Given the description of an element on the screen output the (x, y) to click on. 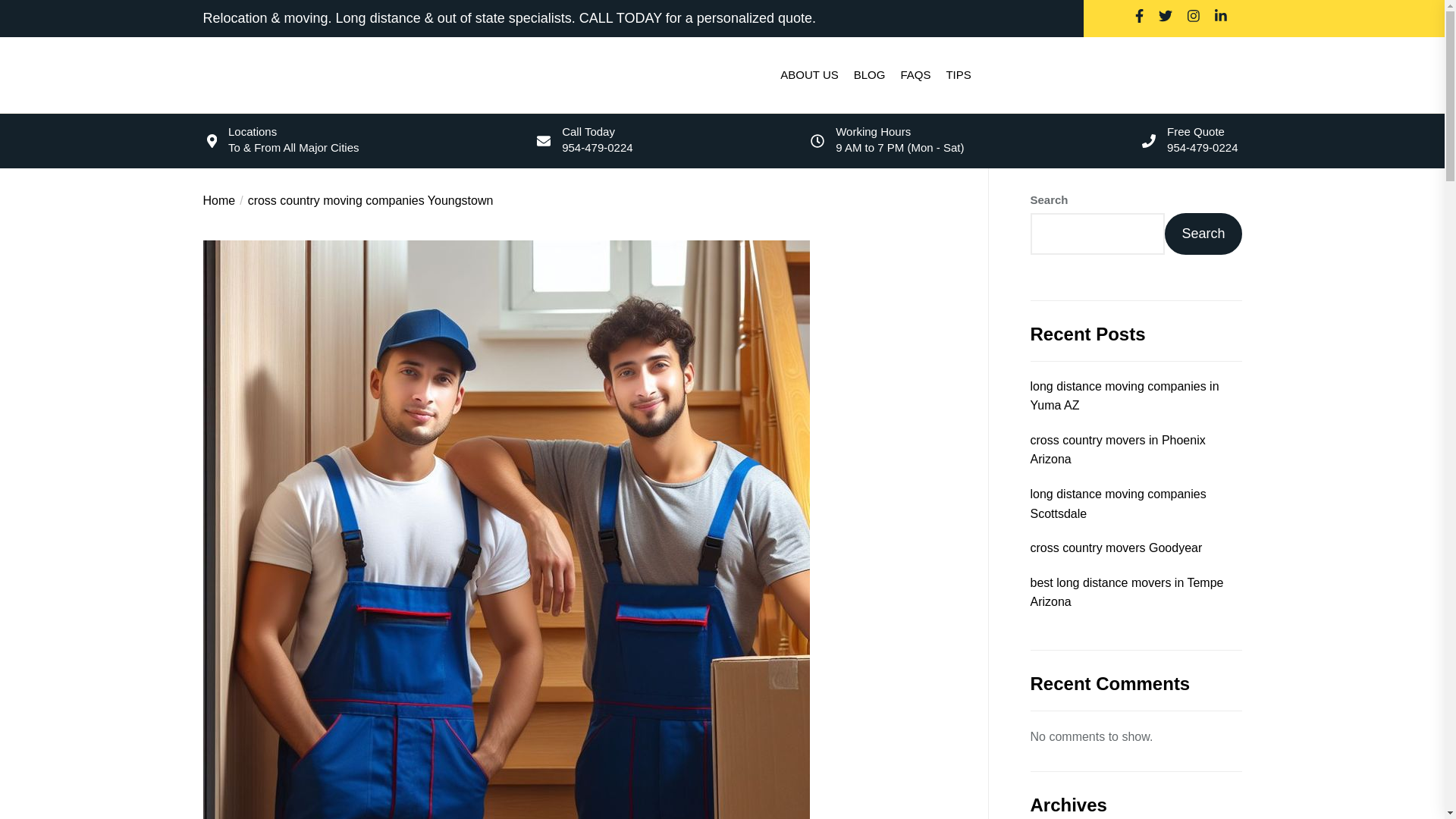
cross country movers Goodyear (1115, 547)
Home (219, 200)
Affordable Moving Services (352, 74)
cross country moving companies Youngstown (363, 200)
long distance moving companies in Yuma AZ (1135, 395)
ABOUT US (809, 74)
FAQS (914, 74)
cross country movers in Phoenix Arizona (1135, 449)
Search (1202, 233)
BLOG (869, 74)
best long distance movers in Tempe Arizona (1135, 592)
TIPS (957, 74)
long distance moving companies Scottsdale (1135, 503)
